Given the description of an element on the screen output the (x, y) to click on. 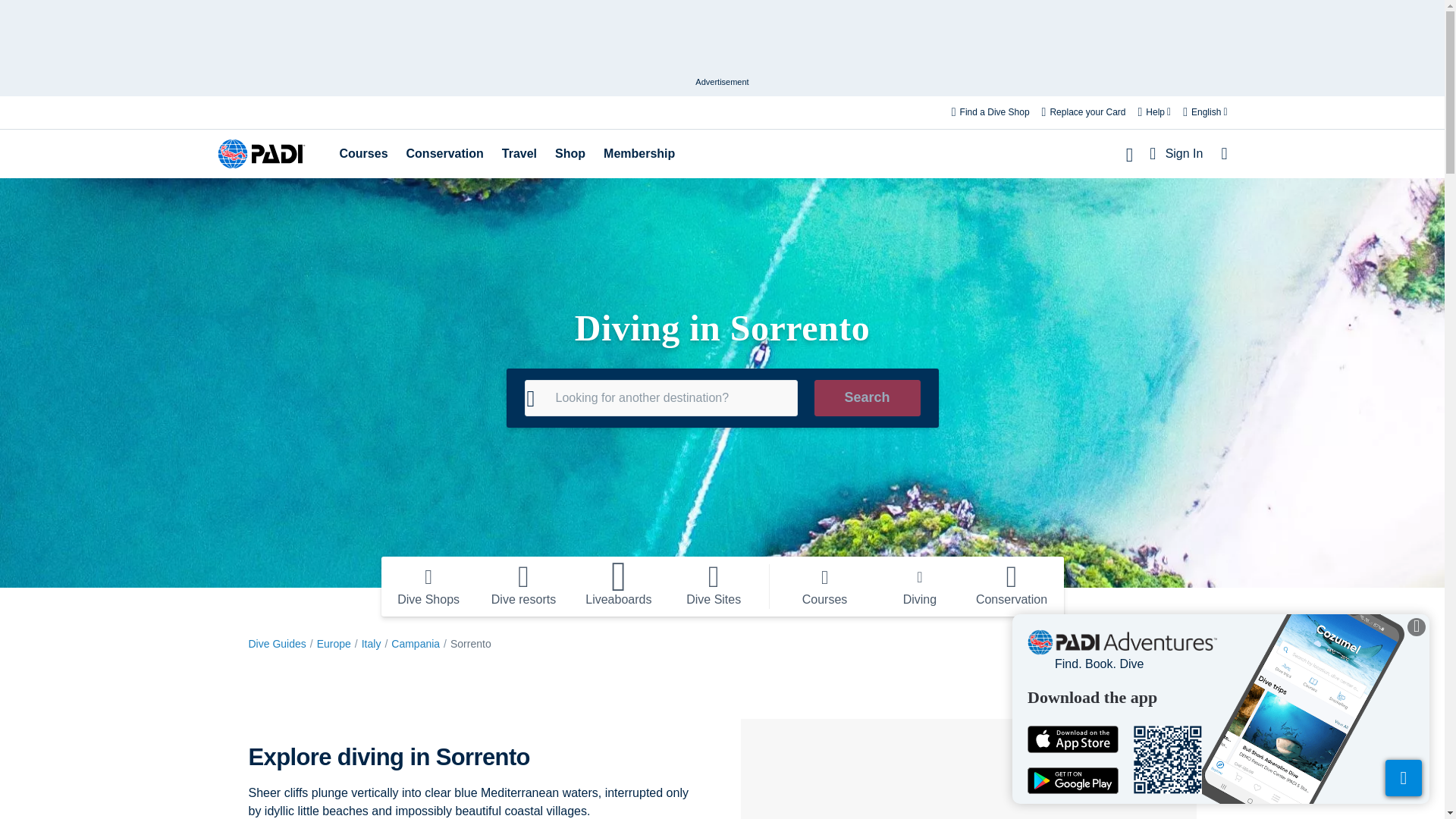
3rd party ad content (721, 41)
Replace your Card (1083, 111)
Find a Dive Shop (990, 111)
Courses (363, 153)
